Given the description of an element on the screen output the (x, y) to click on. 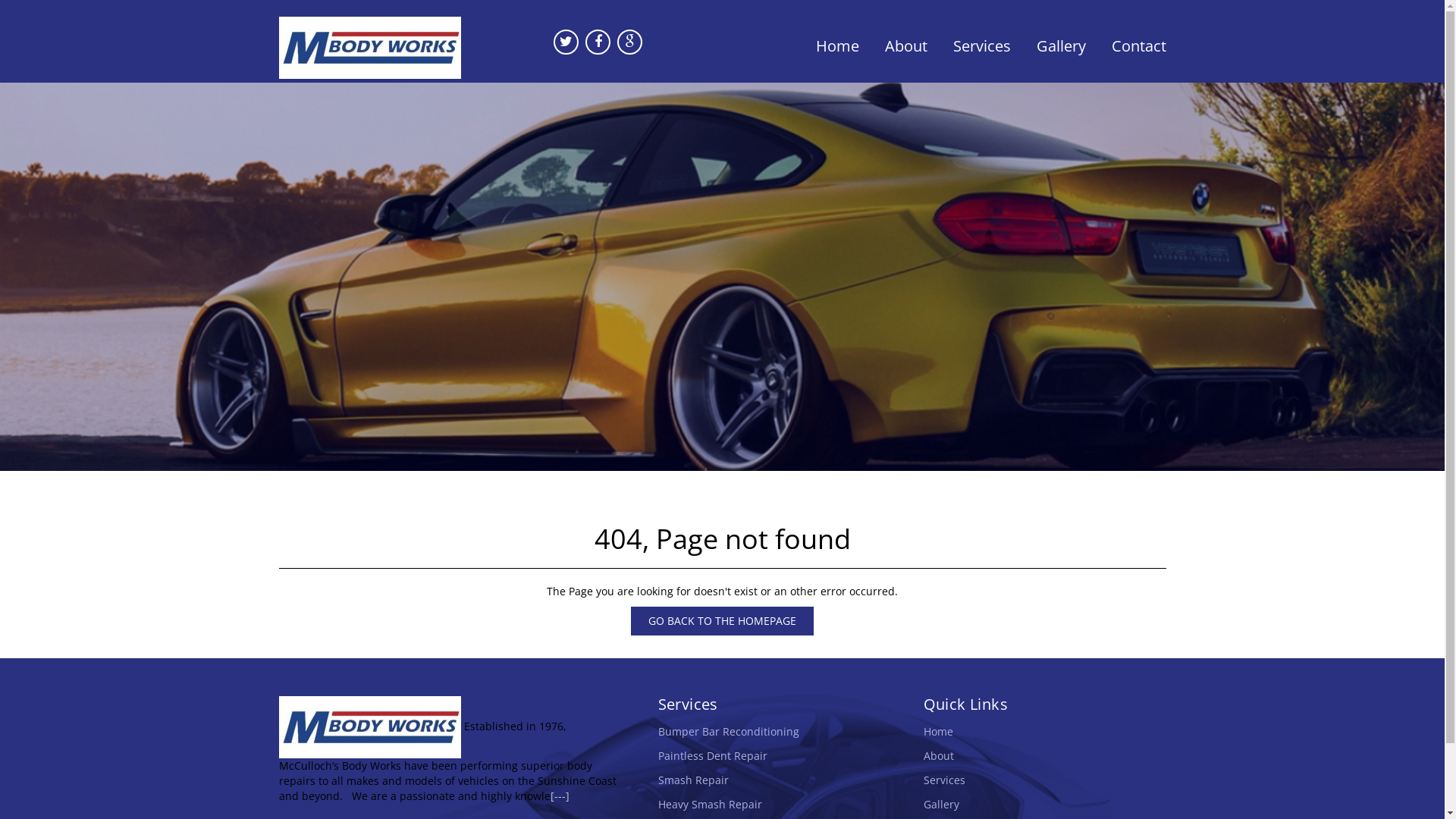
Home Element type: text (938, 731)
[---] Element type: text (559, 795)
Gallery Element type: text (1061, 45)
Home Element type: text (836, 45)
Heavy Smash Repair Element type: text (710, 804)
Smash Repair Element type: text (693, 779)
Services Element type: text (981, 45)
Contact Element type: text (1132, 45)
Paintless Dent Repair Element type: text (712, 755)
Gallery Element type: text (941, 804)
GO BACK TO THE HOMEPAGE Element type: text (721, 620)
About Element type: text (905, 45)
Bumper Bar Reconditioning Element type: text (728, 731)
About Element type: text (938, 755)
Services Element type: text (944, 779)
